Given the description of an element on the screen output the (x, y) to click on. 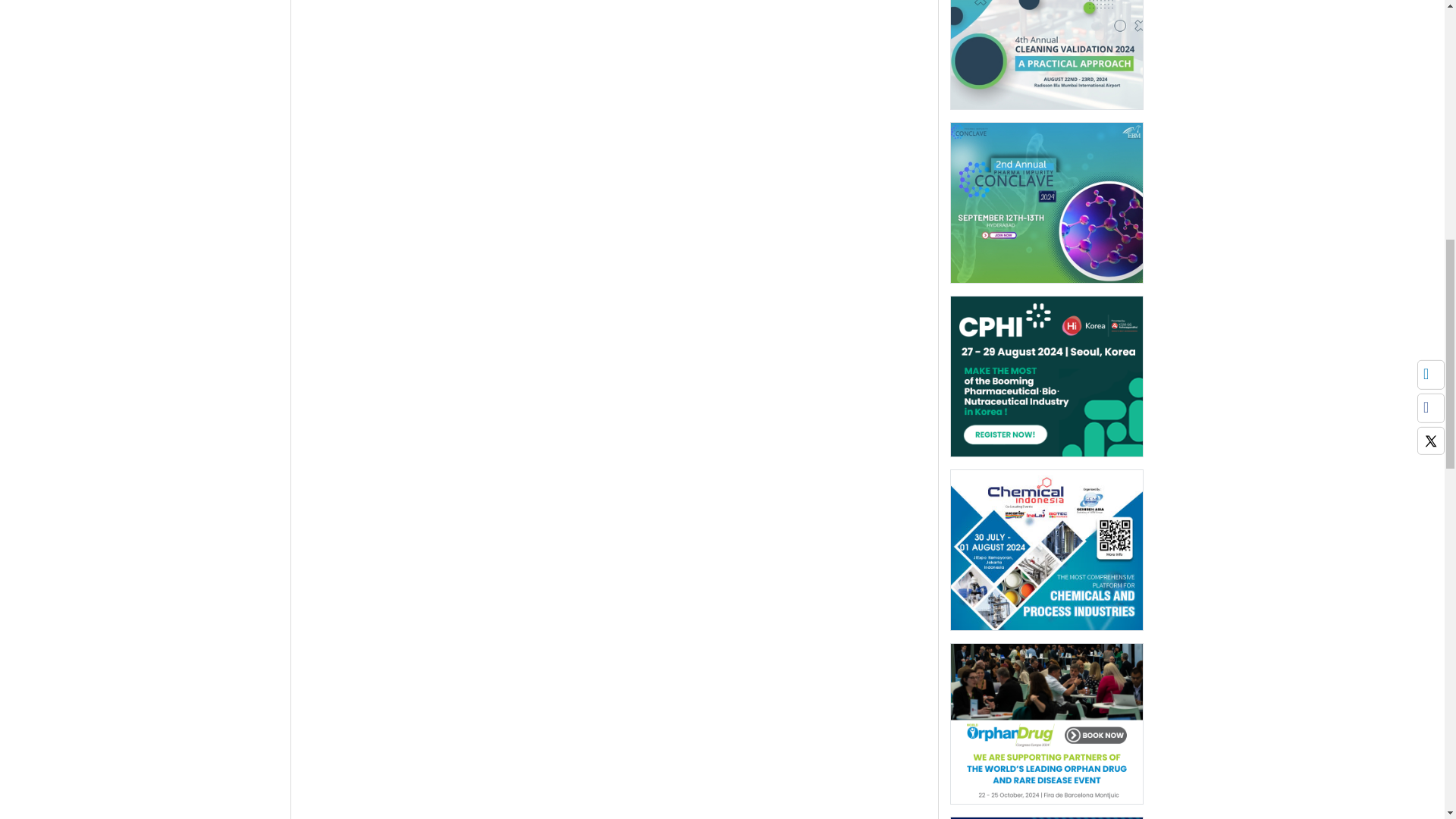
World Orphan Drug Congress Europe 2024 (1045, 728)
4th Annual Cleaning Validation 2024 (1045, 54)
INALAB 2024 (1045, 817)
World Orphan Drug Congress Europe 2024 (1045, 723)
CHEMICAL INDONESIA 2024 (1045, 549)
CPHI Korea 2024 (1045, 381)
2nd Annual Pharma Impurity Conclave 2024 (1045, 207)
2nd Annual Pharma Impurity Conclave 2024 (1045, 202)
CPHI Korea 2024 (1045, 376)
CHEMICAL INDONESIA 2024 (1045, 554)
4th Annual Cleaning Validation 2024 (1045, 34)
